Given the description of an element on the screen output the (x, y) to click on. 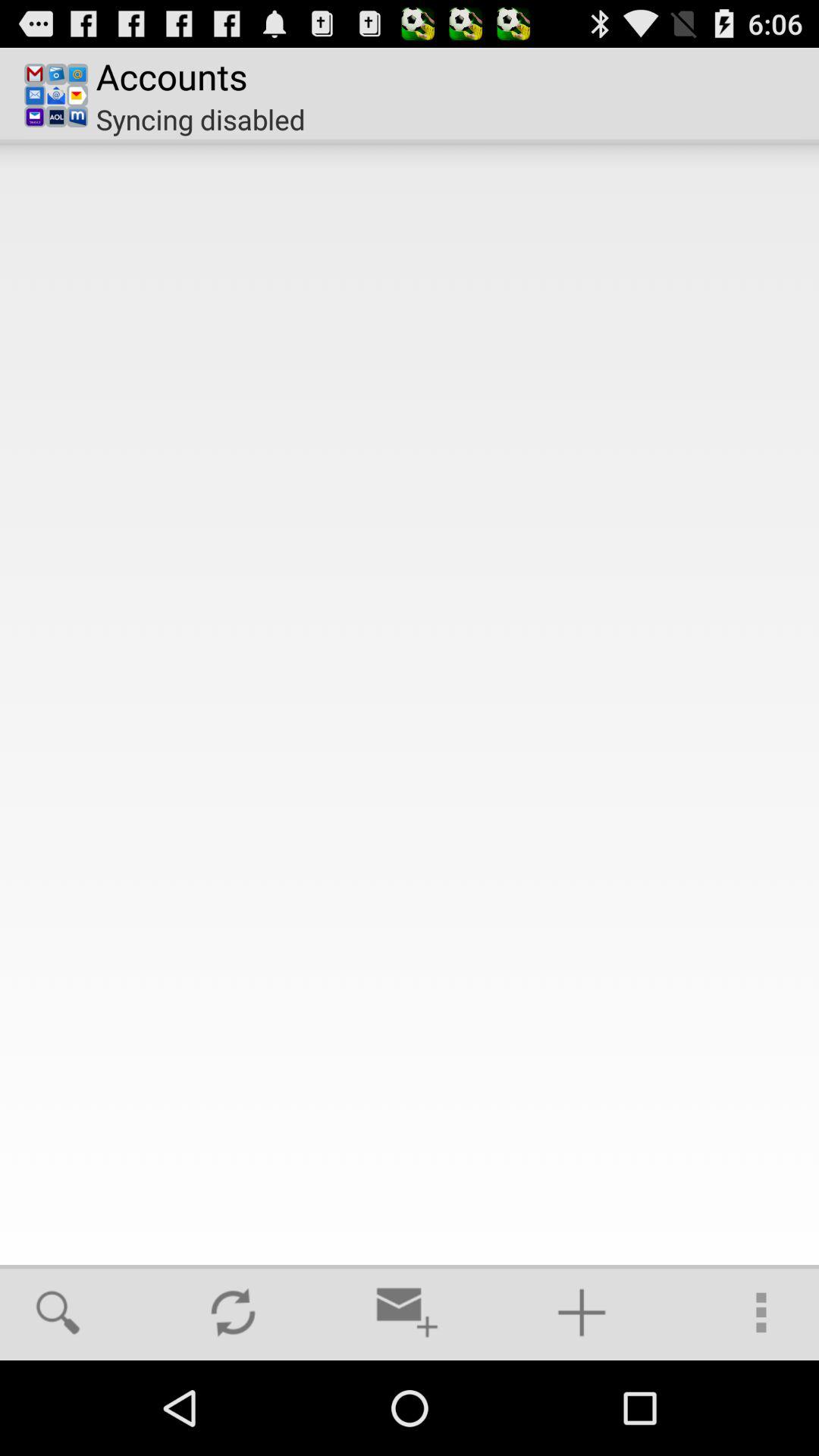
click icon at the bottom (407, 1312)
